Given the description of an element on the screen output the (x, y) to click on. 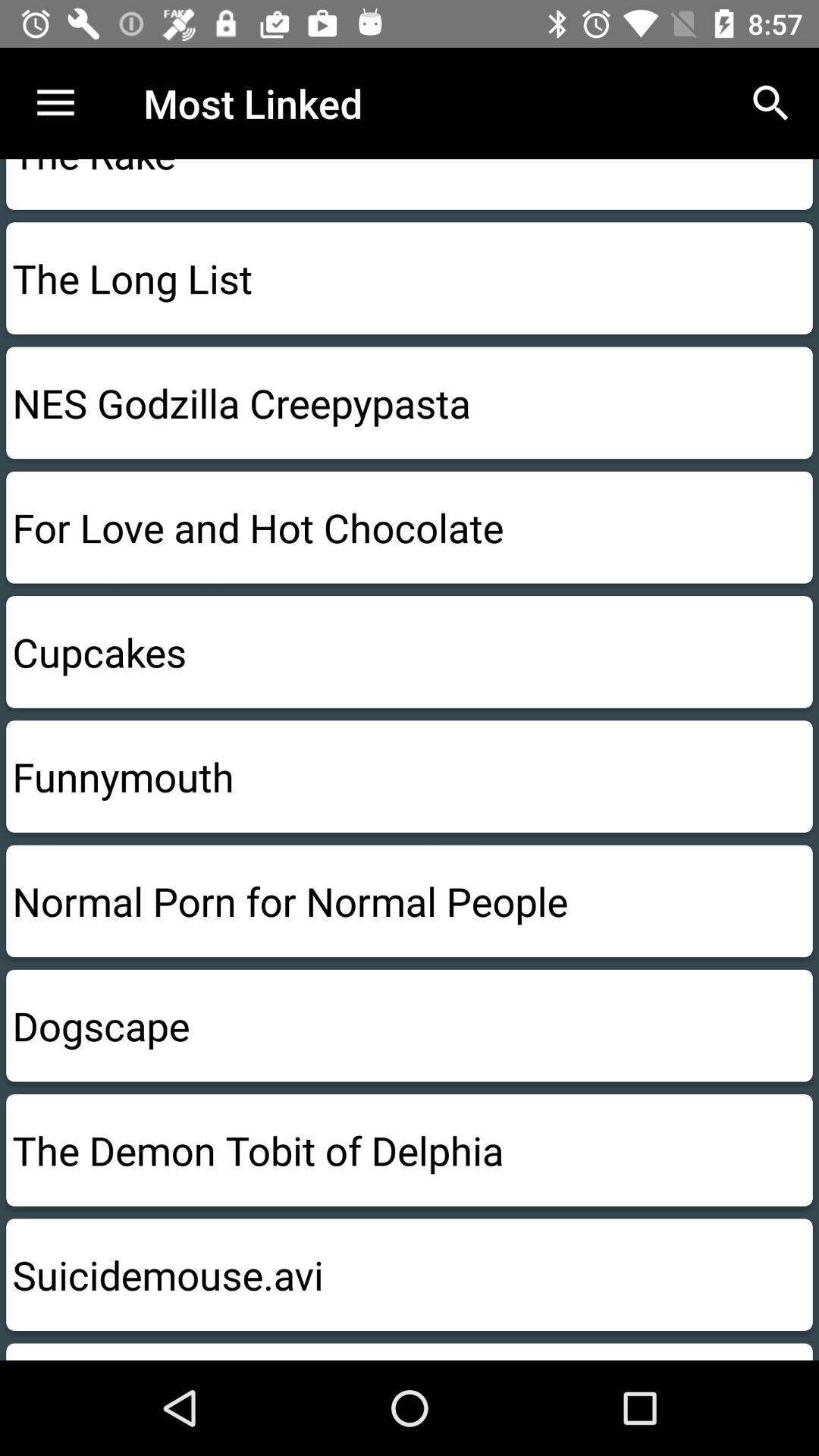
turn off icon above the rake (771, 103)
